Given the description of an element on the screen output the (x, y) to click on. 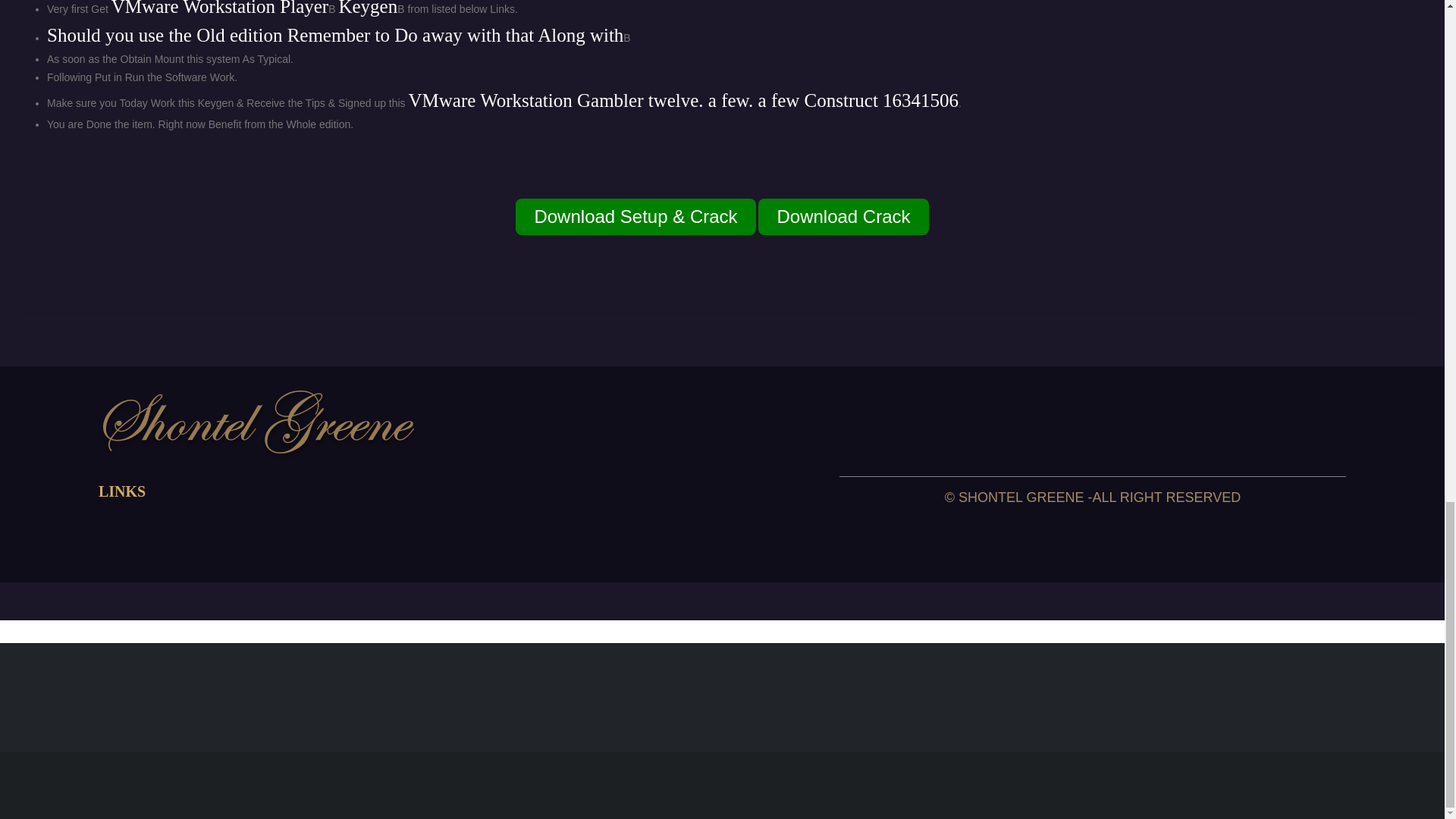
Download Crack (843, 217)
